Given the description of an element on the screen output the (x, y) to click on. 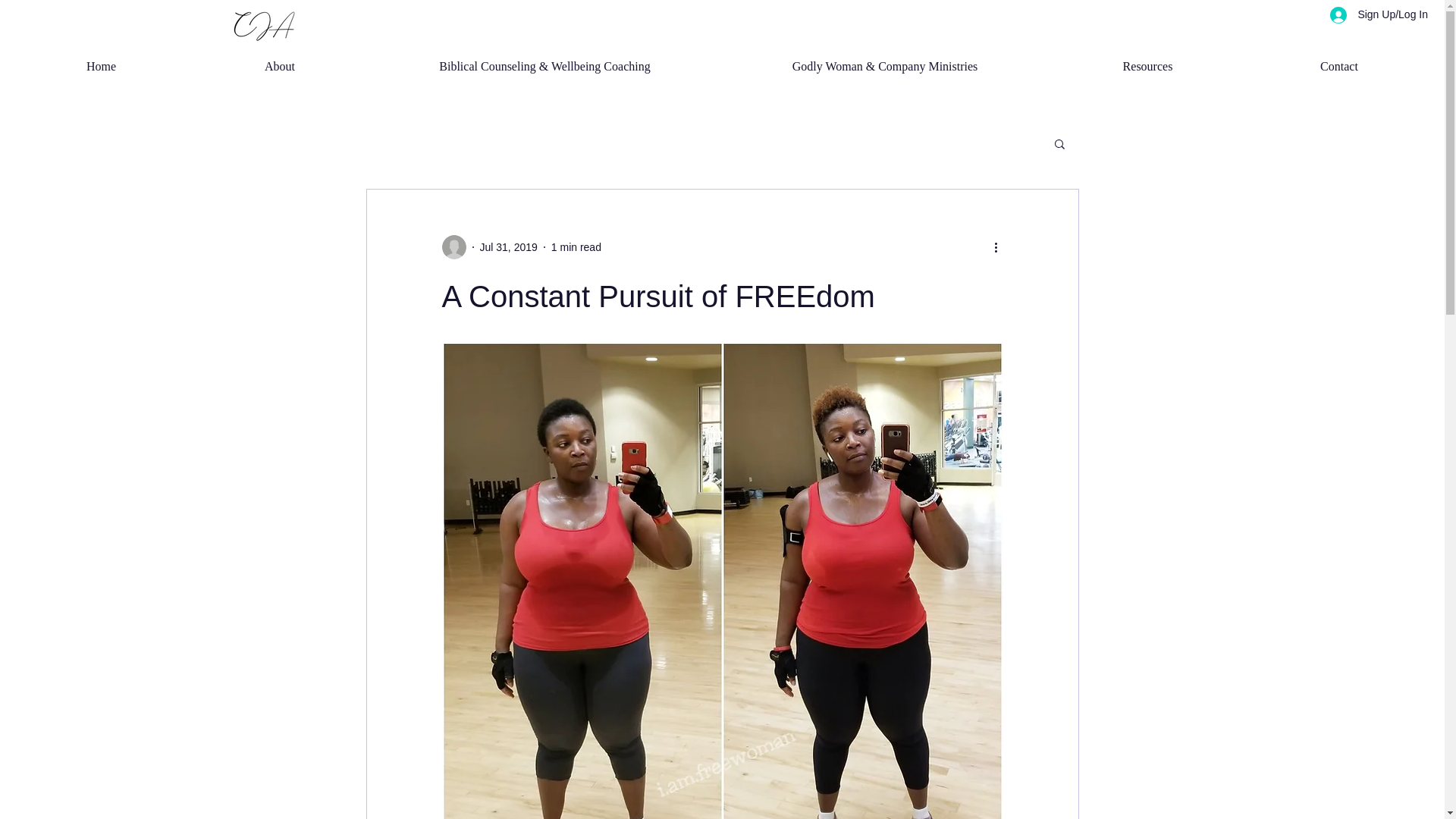
Home (100, 66)
1 min read (576, 246)
Jul 31, 2019 (508, 246)
Contact (1339, 66)
About (279, 66)
